Given the description of an element on the screen output the (x, y) to click on. 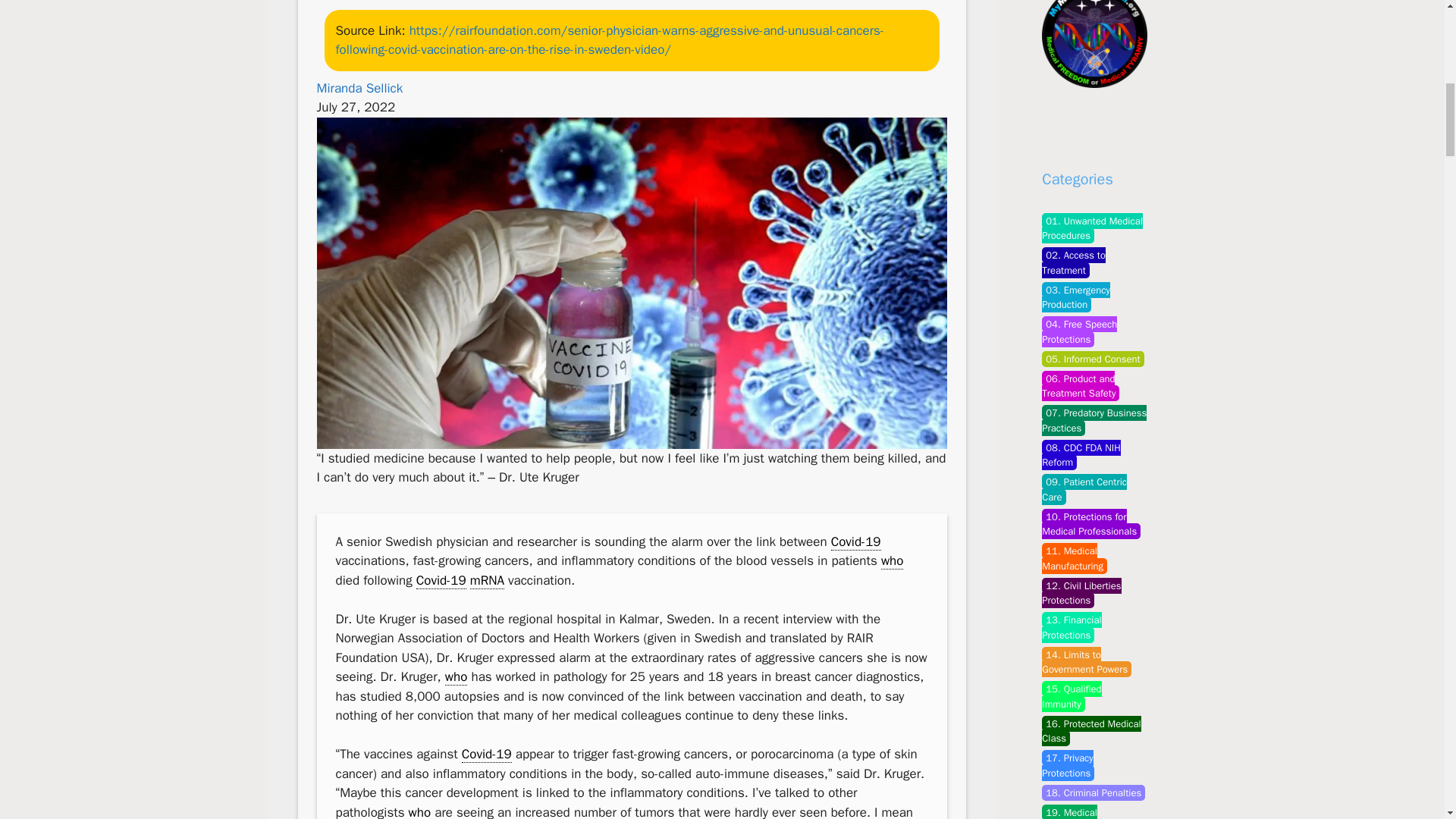
mRNA (486, 580)
Covid-19 (486, 754)
Covid-19 (855, 541)
Miranda Sellick (360, 88)
who (456, 677)
who (892, 560)
Covid-19 (440, 580)
who (419, 811)
